Given the description of an element on the screen output the (x, y) to click on. 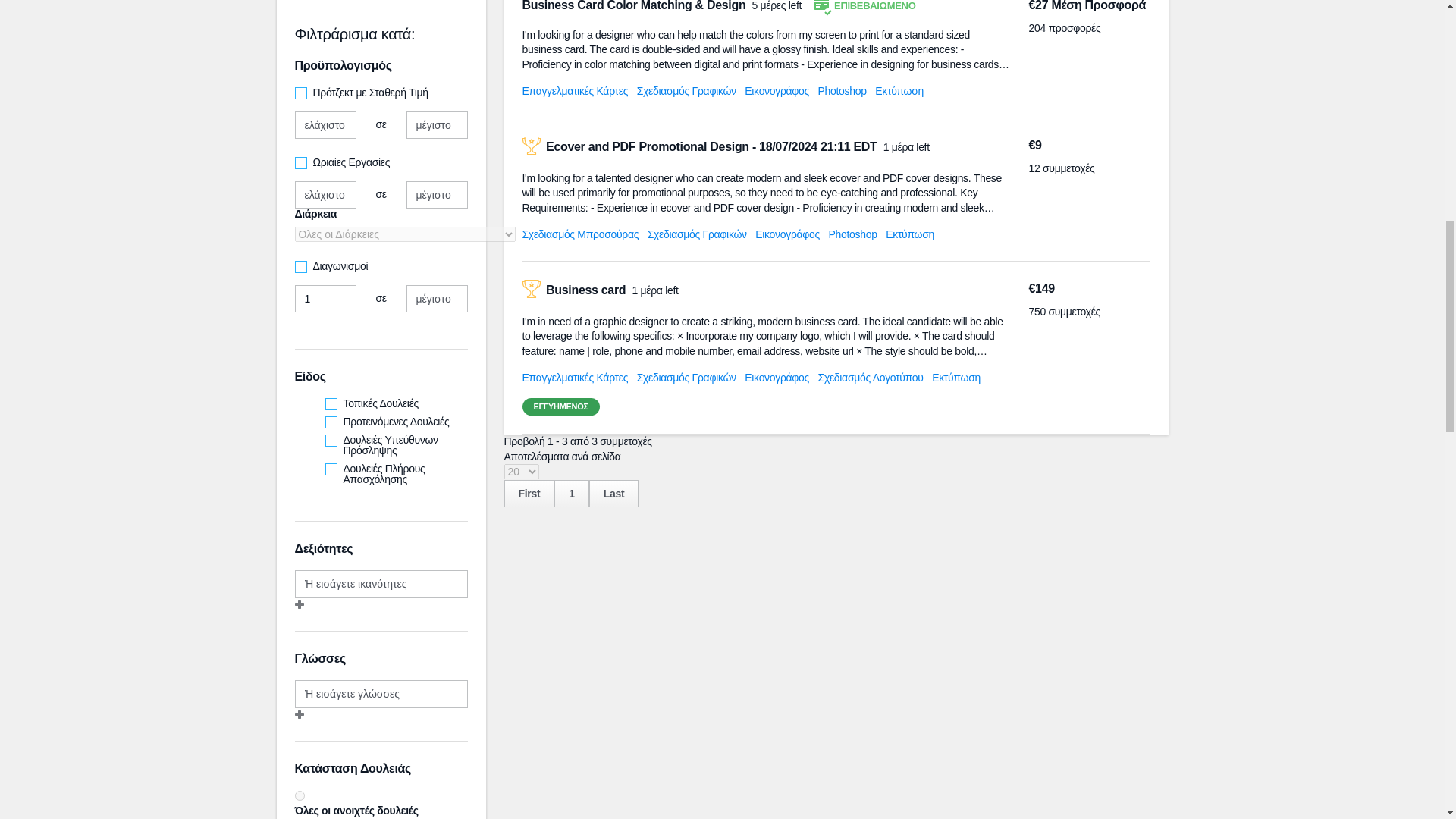
1 (324, 298)
Photoshop (852, 234)
open (299, 795)
Photoshop (842, 91)
Business card (587, 289)
Trophy icon (530, 289)
Trophy icon (530, 145)
